Given the description of an element on the screen output the (x, y) to click on. 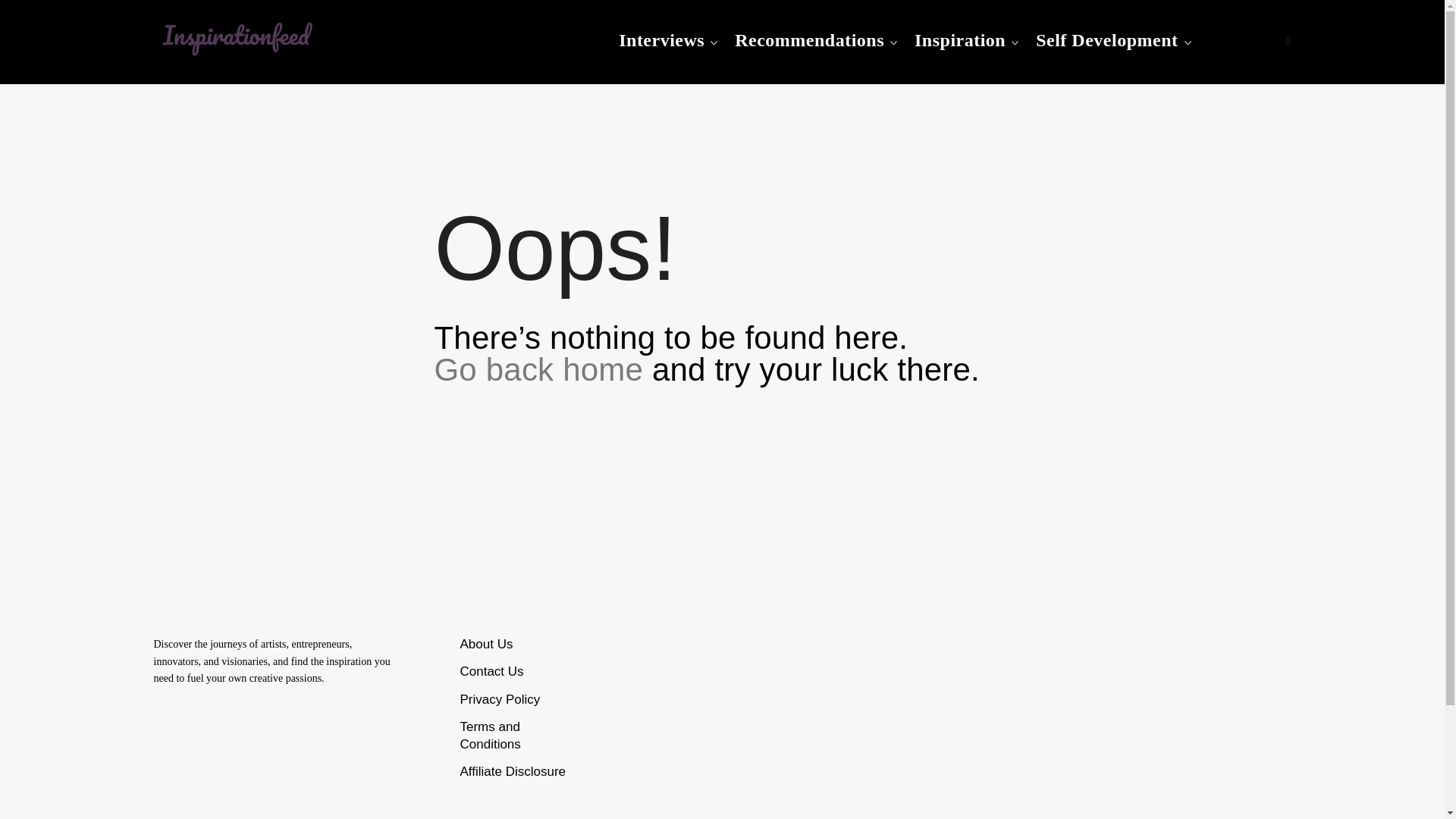
Terms and Conditions (489, 735)
Search (20, 18)
Inspirationfeed (251, 77)
Go back home (538, 369)
Interviews (661, 40)
Self Development (1106, 40)
Contact Us (491, 671)
Privacy Policy (500, 699)
contact (491, 671)
Recommendations (809, 40)
